Given the description of an element on the screen output the (x, y) to click on. 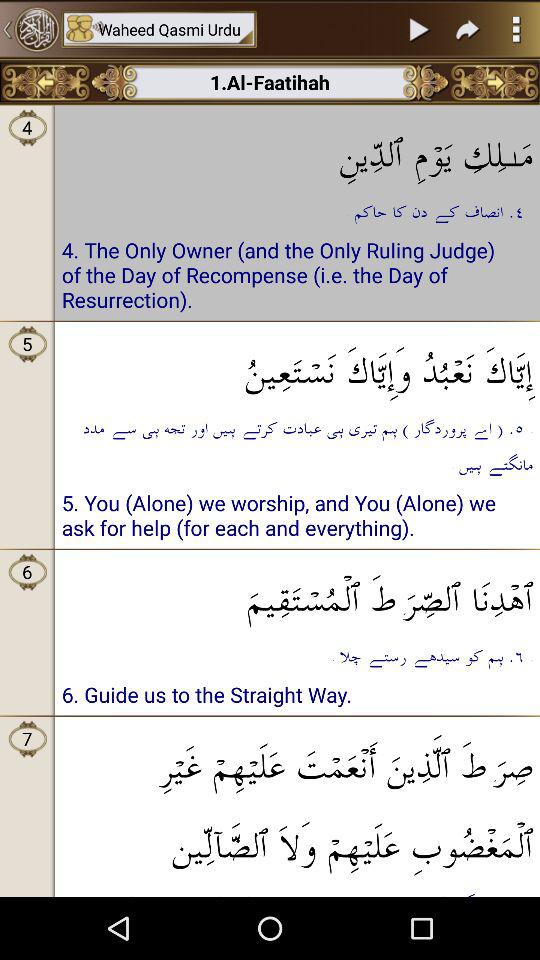
go forward (494, 82)
